Given the description of an element on the screen output the (x, y) to click on. 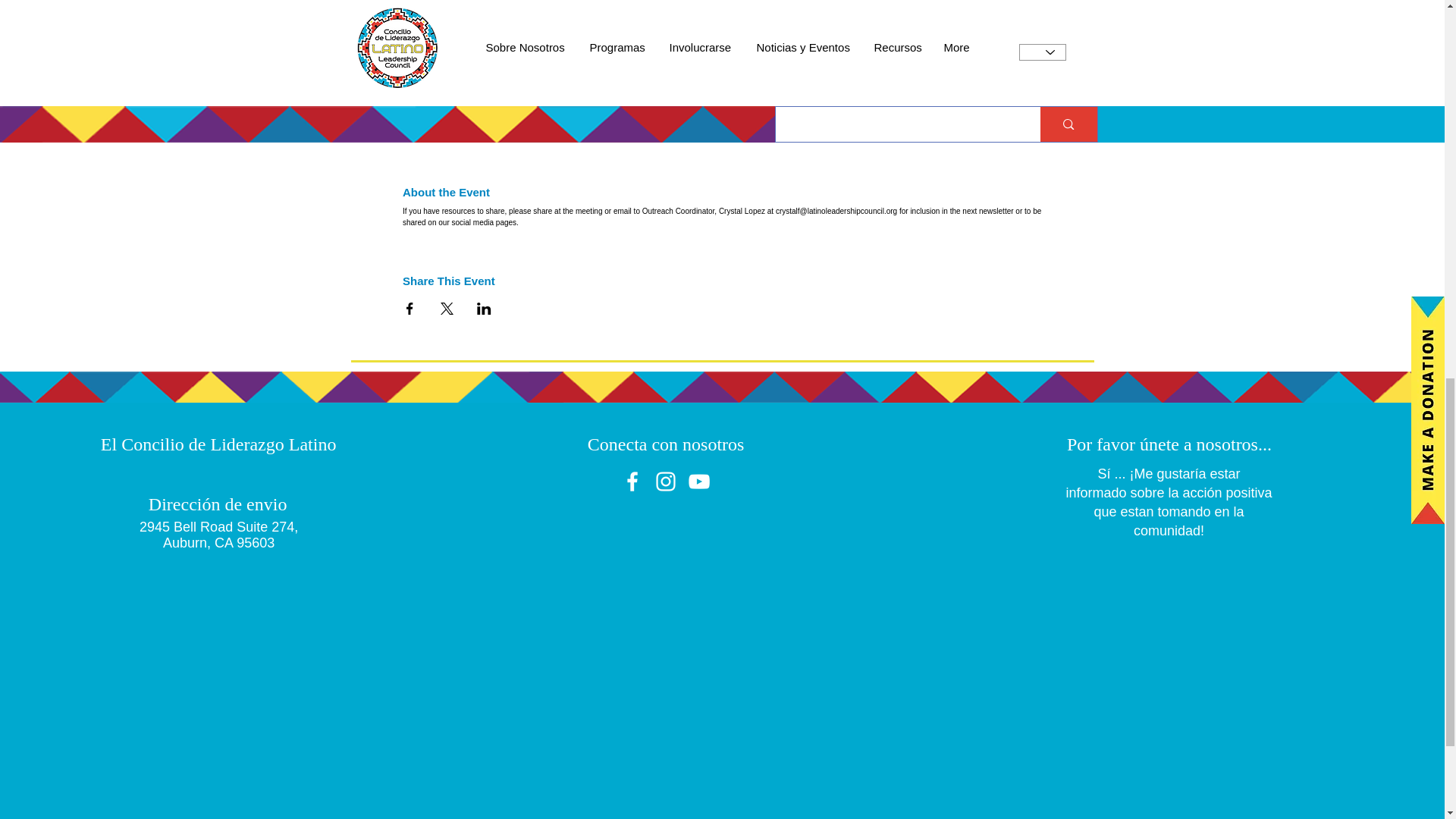
Embedded Content (1155, 687)
